Given the description of an element on the screen output the (x, y) to click on. 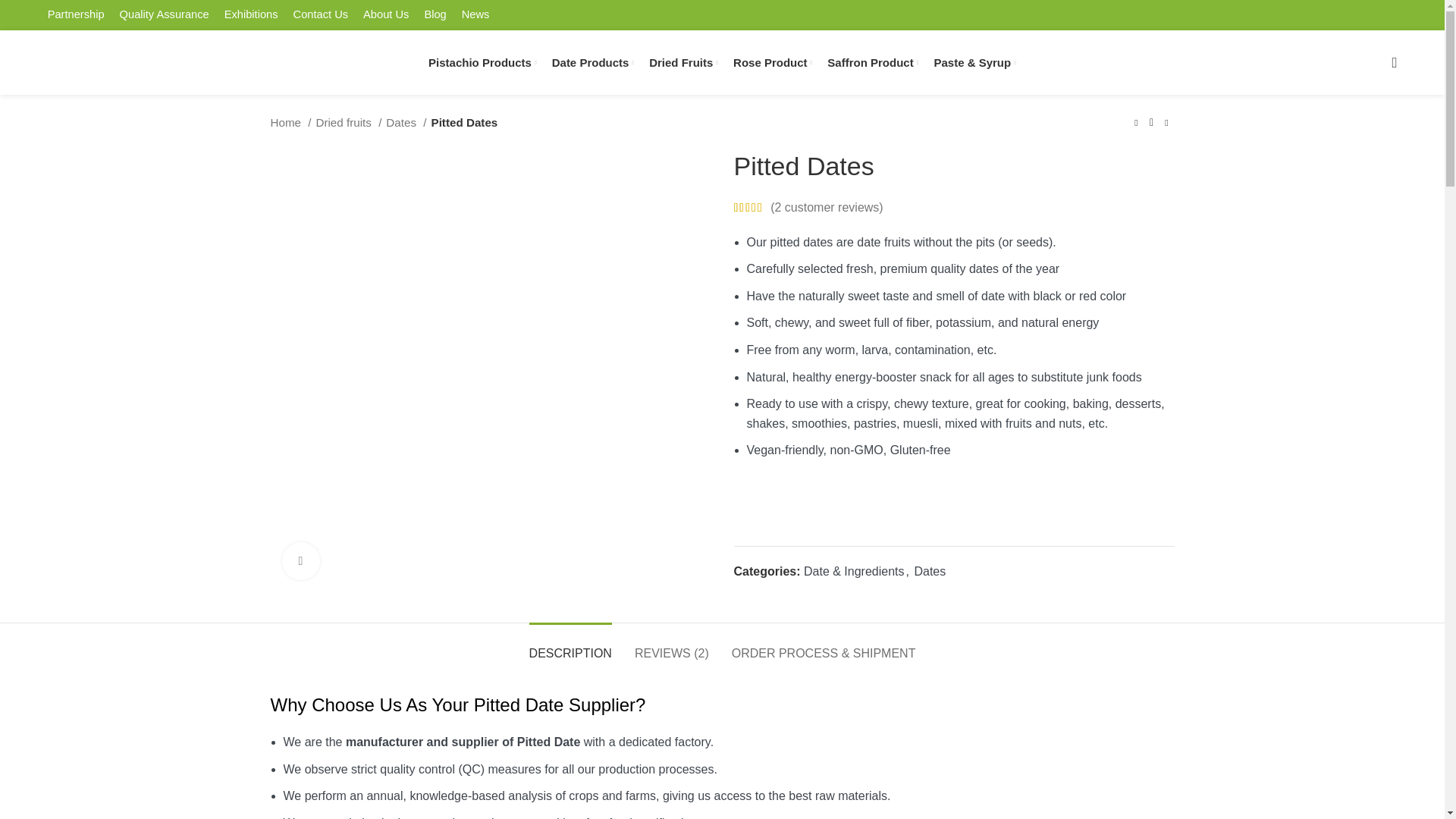
English (1264, 3)
Partnership (76, 15)
English (1264, 3)
Exhibitions (250, 15)
Blog (434, 15)
Pistachio Products (482, 61)
Quality Assurance (164, 15)
About Us (385, 15)
News (475, 15)
